Given the description of an element on the screen output the (x, y) to click on. 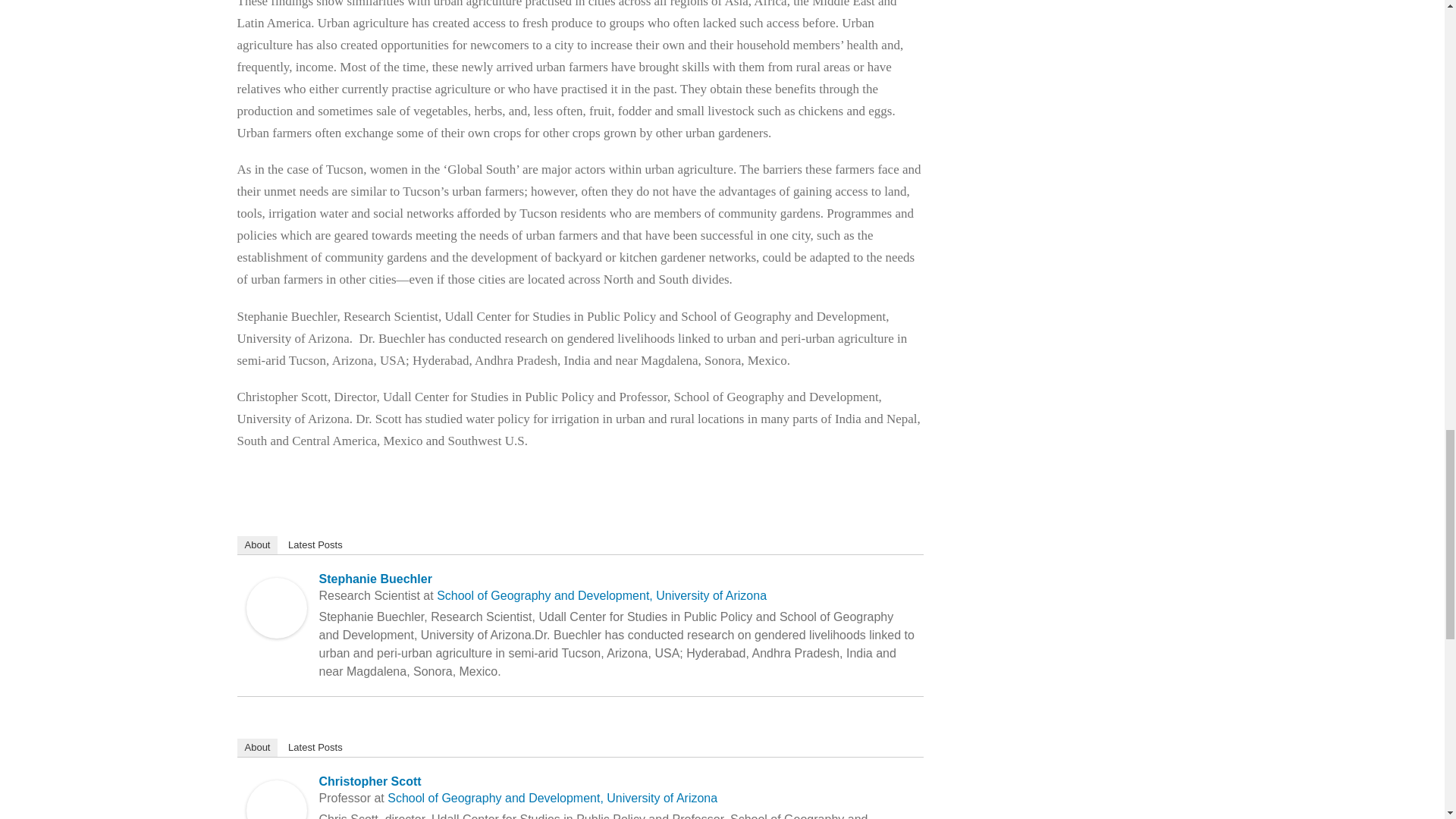
Stephanie Buechler (275, 587)
Christopher Scott (275, 789)
